Given the description of an element on the screen output the (x, y) to click on. 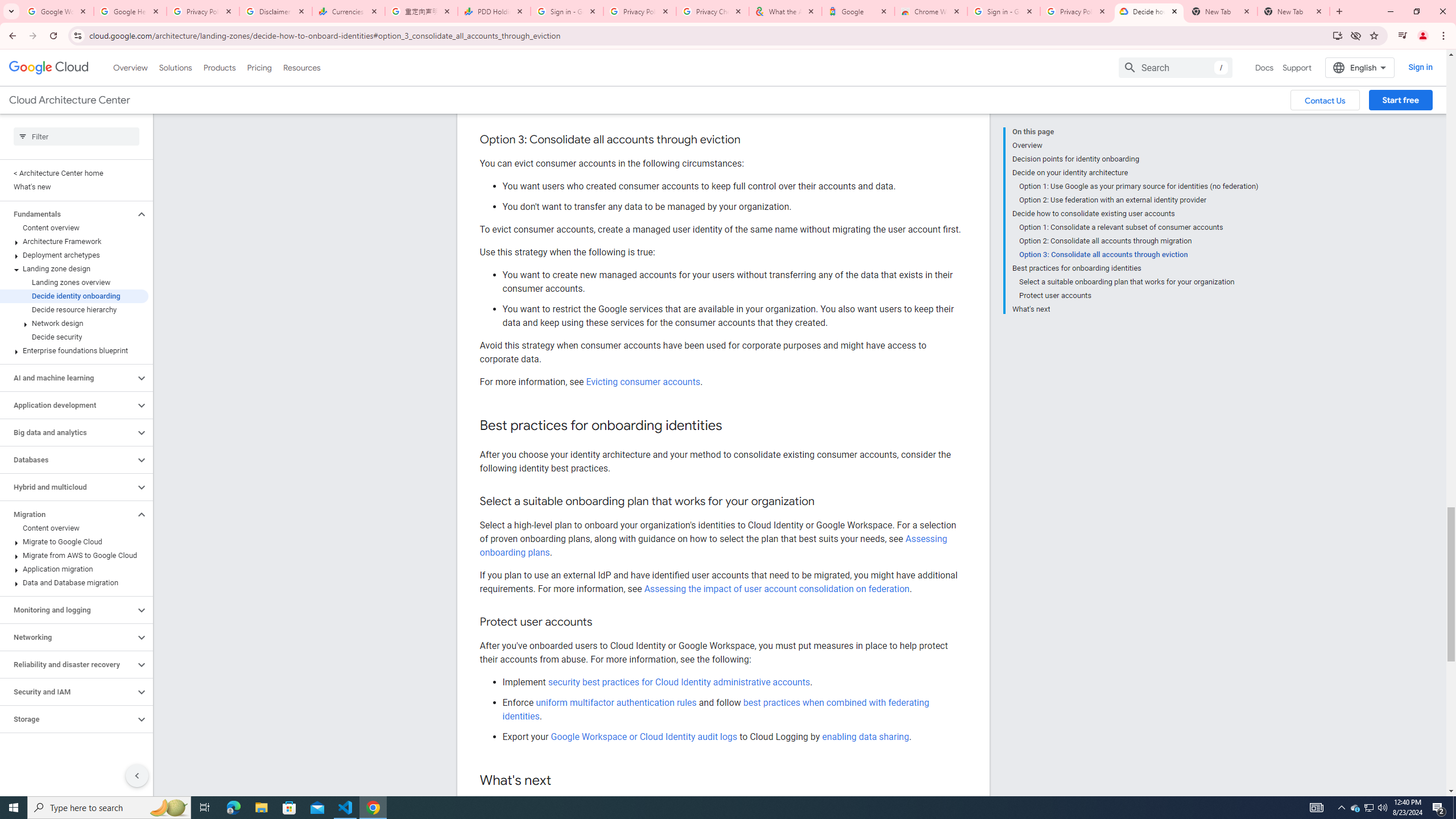
Copy link to this section: Protect user accounts (603, 622)
